Given the description of an element on the screen output the (x, y) to click on. 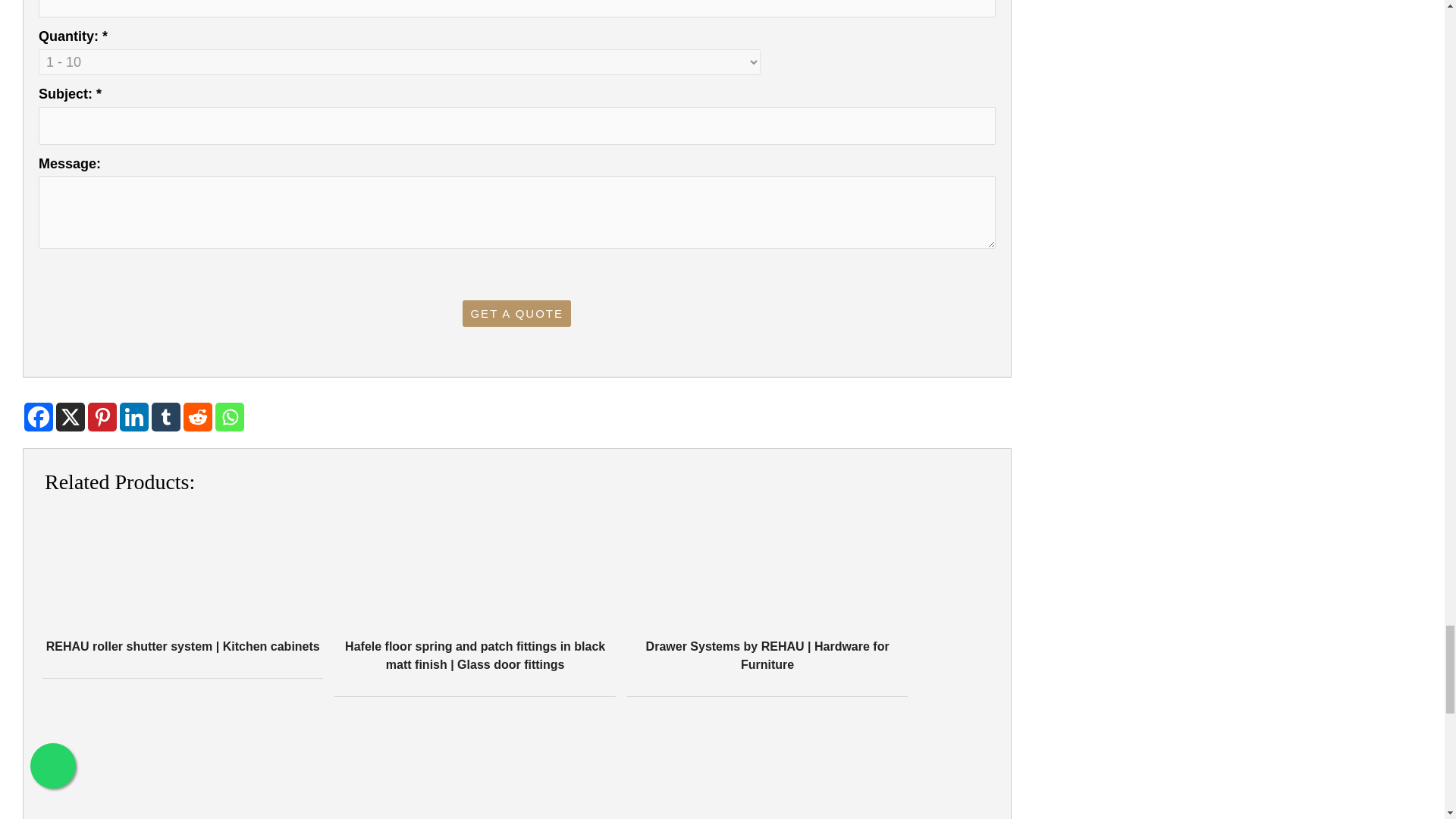
Tumblr (165, 416)
Get a Quote (516, 313)
Linkedin (133, 416)
Pinterest (101, 416)
Whatsapp (229, 416)
Facebook (38, 416)
Reddit (197, 416)
X (70, 416)
